Given the description of an element on the screen output the (x, y) to click on. 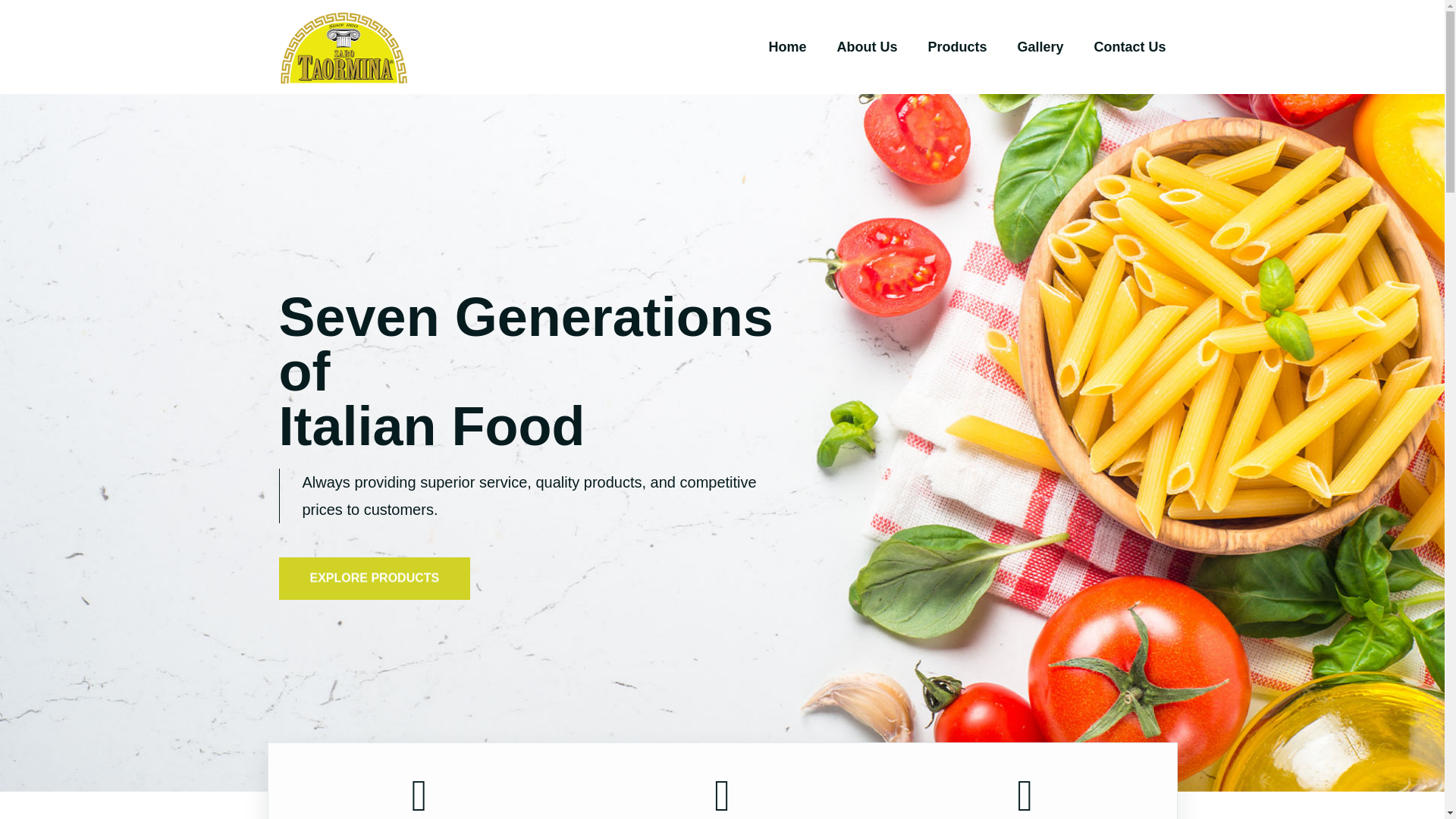
About Us (866, 46)
Contact Us (1126, 46)
Home (786, 46)
Gallery (1039, 46)
Products (957, 46)
